Given the description of an element on the screen output the (x, y) to click on. 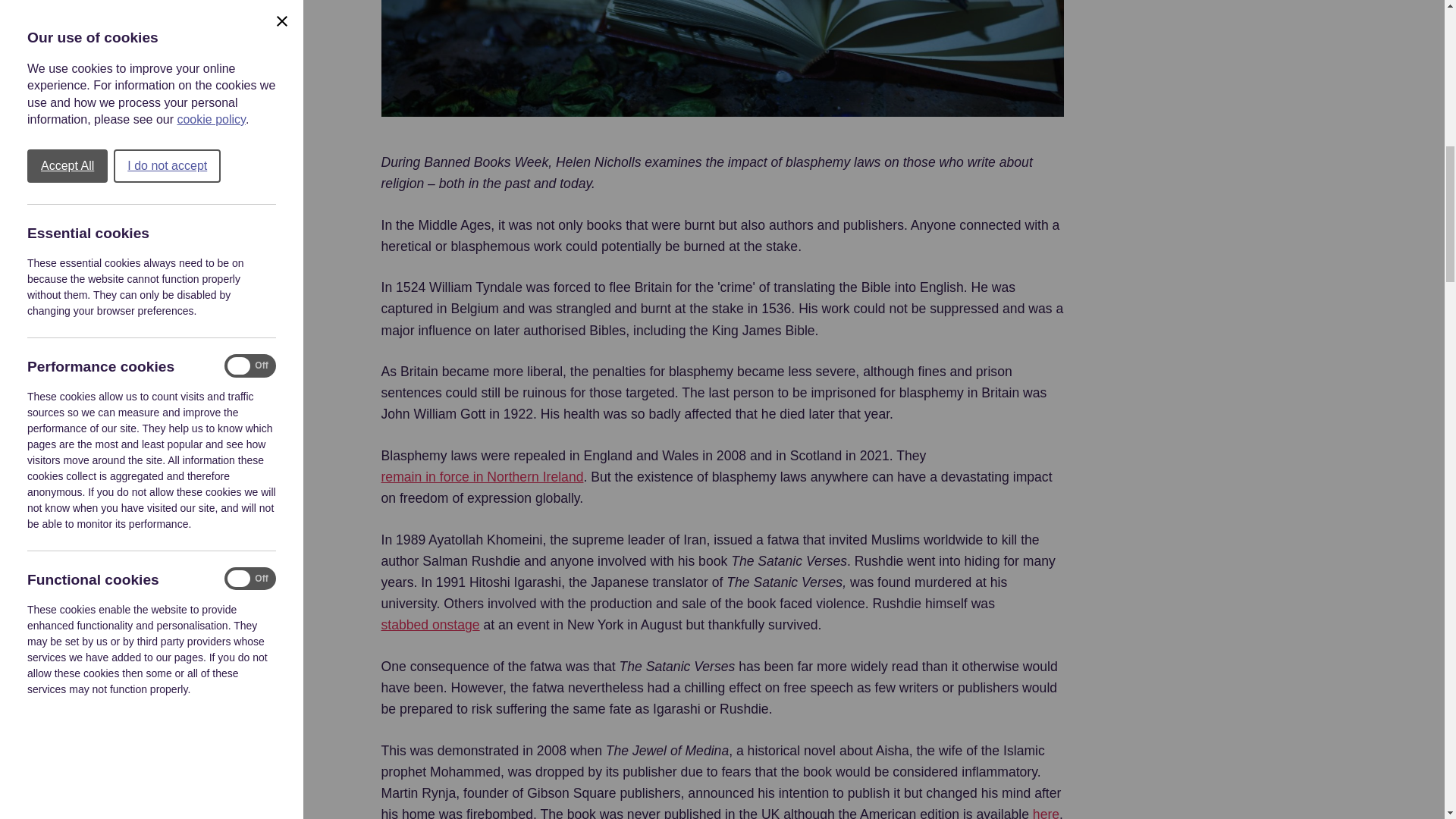
stabbed onstage (429, 624)
remain in force in Northern Ireland (481, 476)
here (1045, 811)
